Given the description of an element on the screen output the (x, y) to click on. 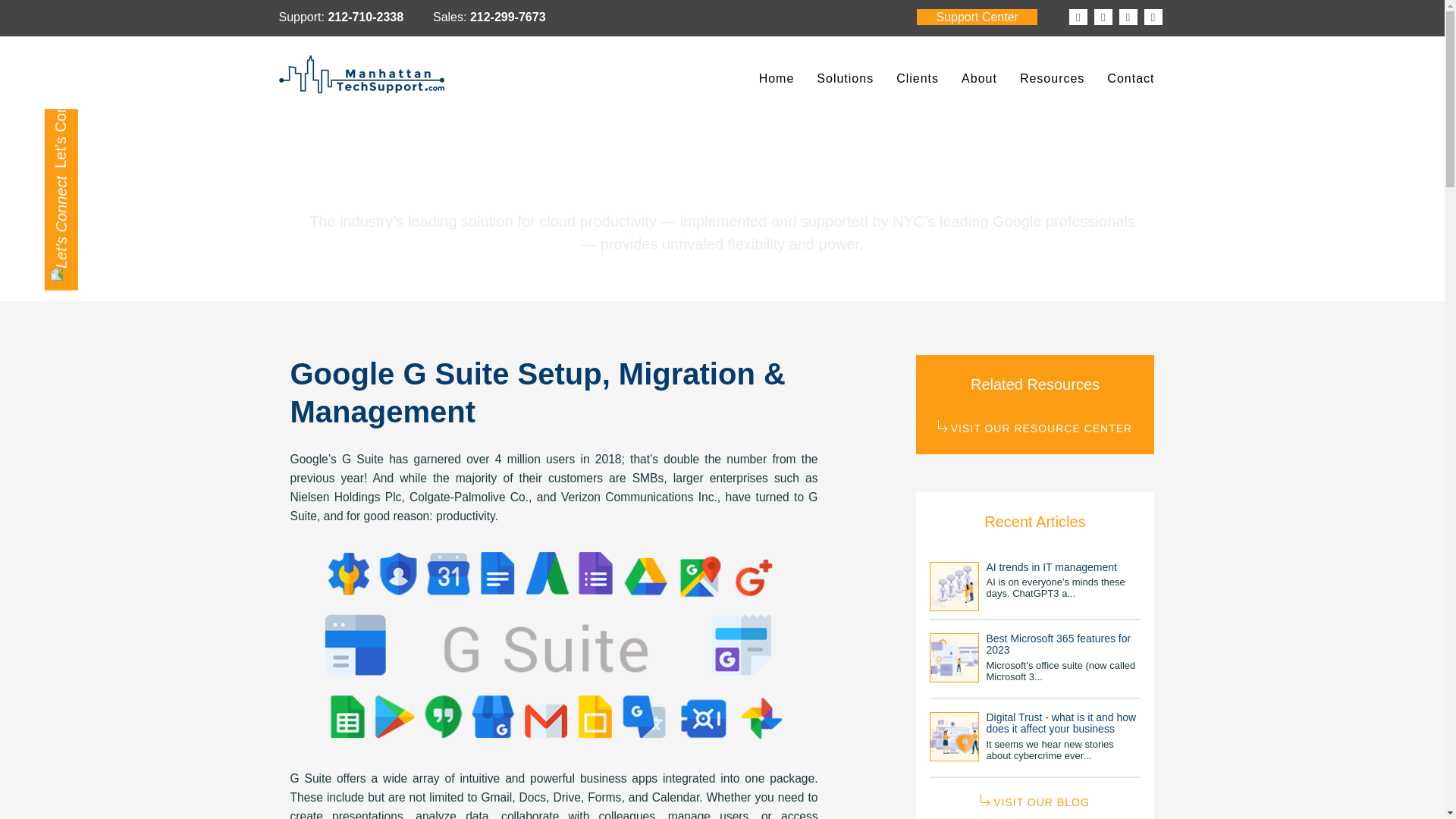
Clients (917, 78)
Support Center (976, 17)
Home (777, 78)
Contact (1131, 78)
Solutions (845, 78)
G-Suite (552, 650)
About (979, 78)
Resources (1052, 78)
